Given the description of an element on the screen output the (x, y) to click on. 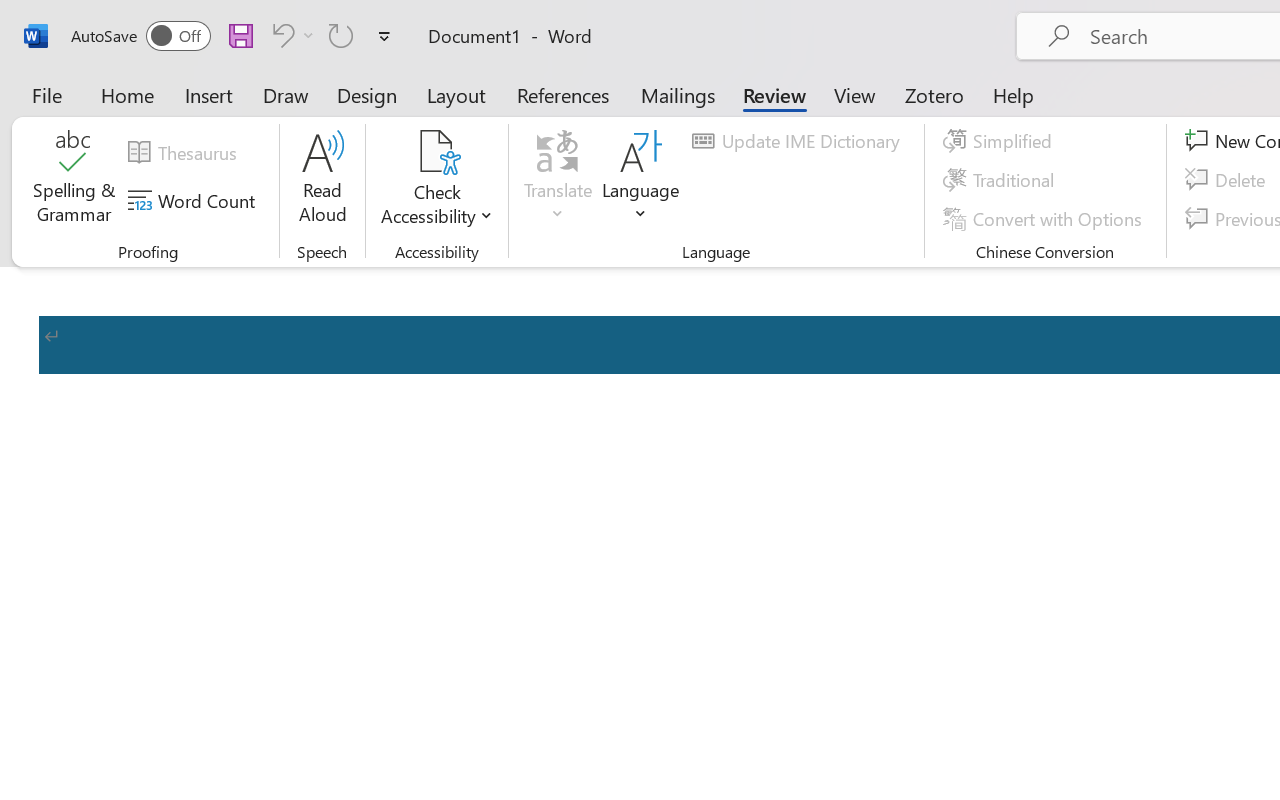
Simplified (1000, 141)
Traditional (1001, 179)
Language (641, 179)
Check Accessibility (436, 179)
Convert with Options... (1045, 218)
Repeat Accessibility Checker (341, 35)
Undo Apply Quick Style Set (280, 35)
Spelling & Grammar (74, 180)
